Given the description of an element on the screen output the (x, y) to click on. 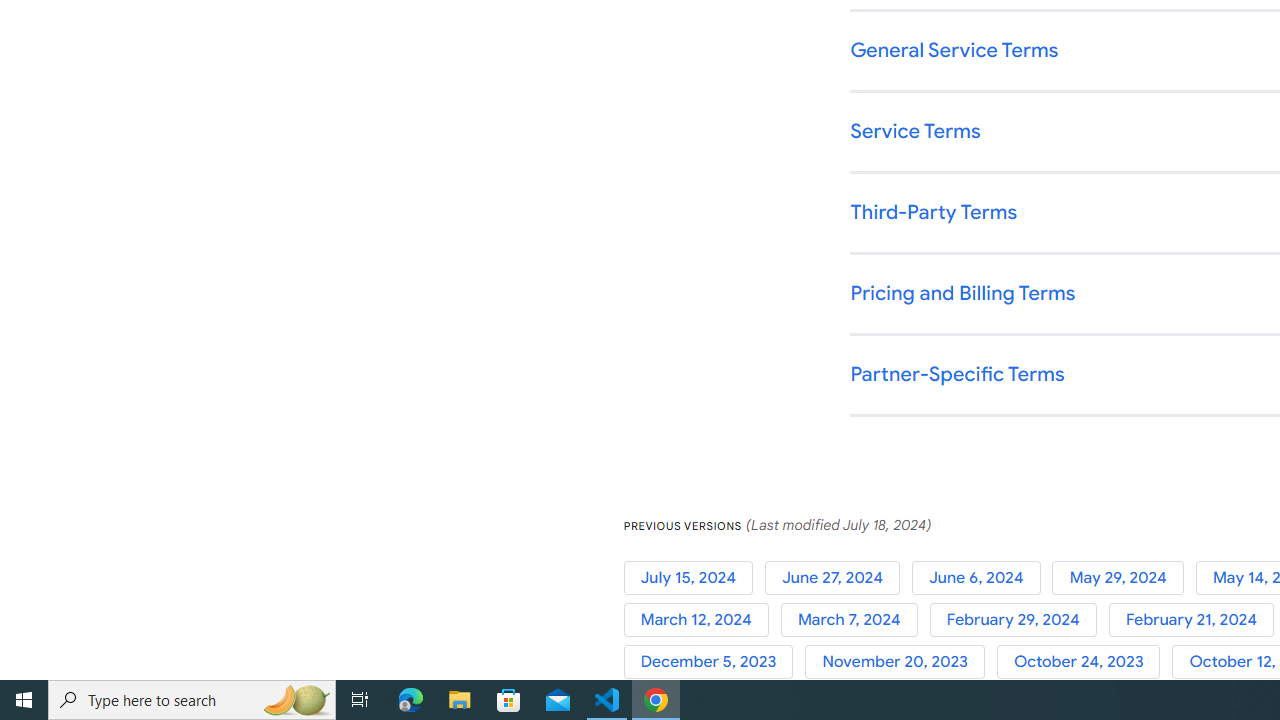
December 5, 2023 (714, 661)
May 29, 2024 (1123, 577)
July 15, 2024 (694, 577)
March 12, 2024 (701, 620)
November 20, 2023 (901, 661)
October 24, 2023 (1083, 661)
February 29, 2024 (1018, 620)
June 6, 2024 (982, 577)
June 27, 2024 (837, 577)
March 7, 2024 (854, 620)
